Given the description of an element on the screen output the (x, y) to click on. 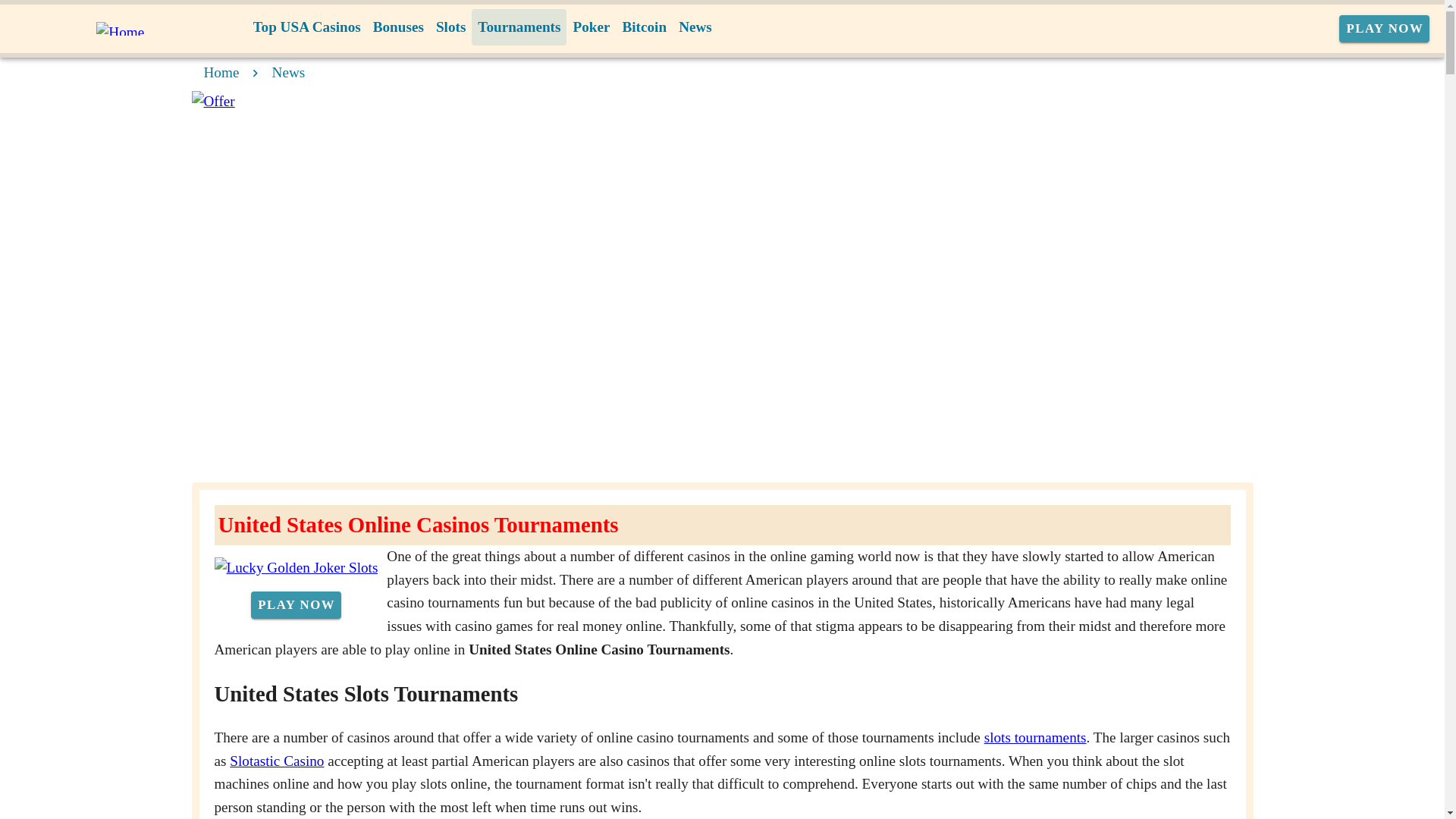
PLAY NOW (1384, 28)
Bitcoin (643, 27)
Tournaments (518, 27)
News (694, 27)
Slots (450, 27)
PLAY NOW (295, 605)
News (288, 72)
Poker (590, 27)
Bonuses (397, 27)
slots tournaments (1035, 737)
Top USA Casinos (306, 27)
Slotastic Casino (276, 760)
Home (220, 72)
